Given the description of an element on the screen output the (x, y) to click on. 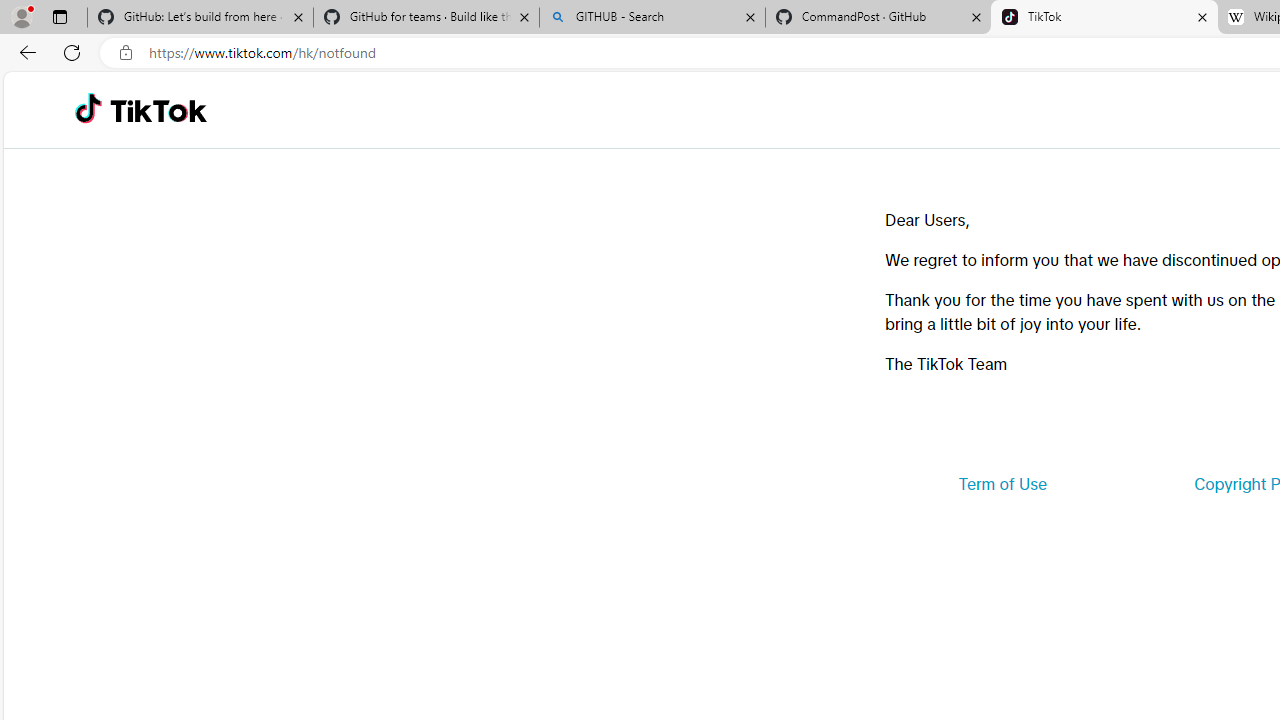
GITHUB - Search (652, 17)
TikTok (1104, 17)
Term of Use (1002, 484)
TikTok (158, 110)
